Given the description of an element on the screen output the (x, y) to click on. 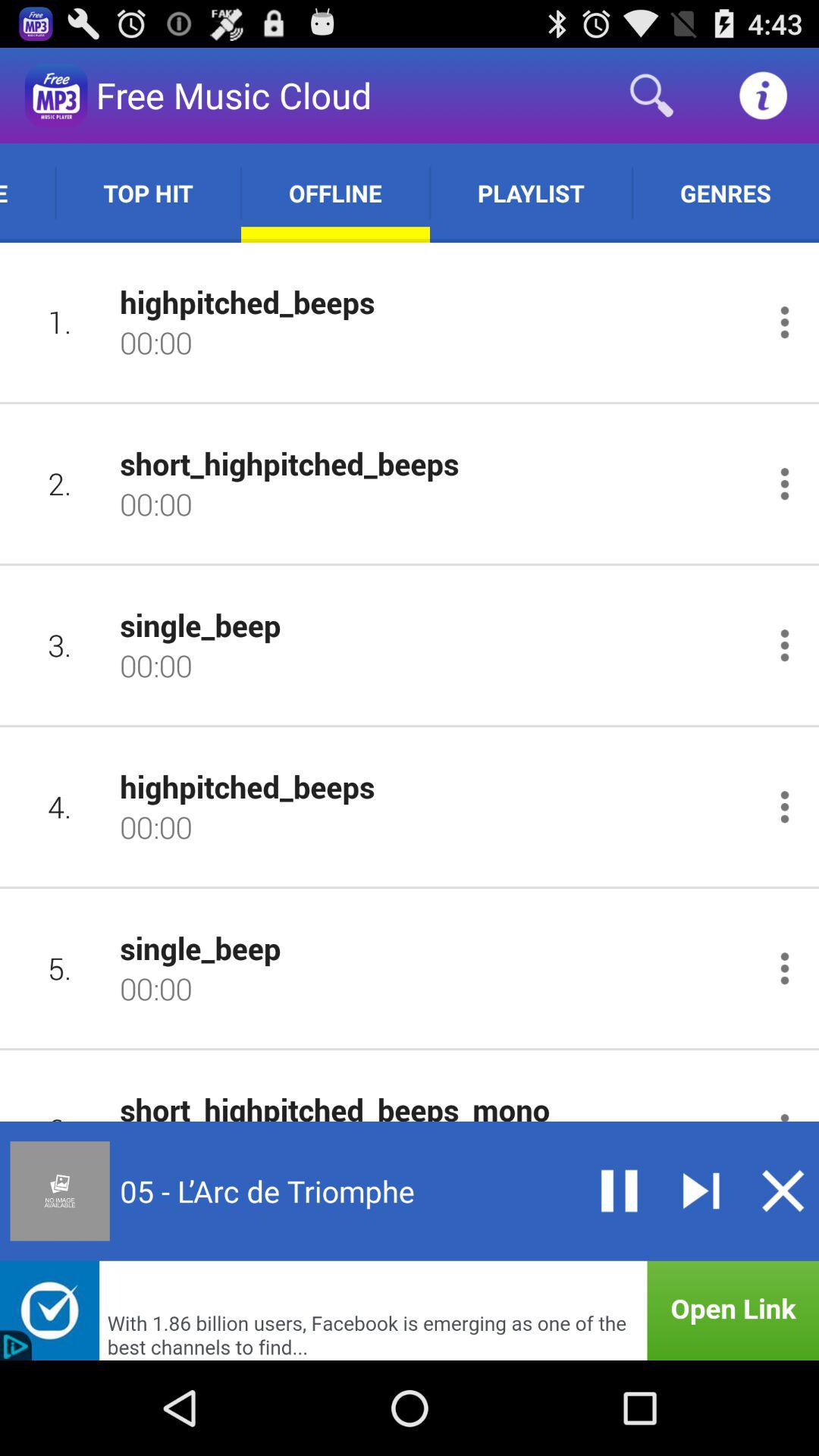
turn on item above the playlist icon (651, 95)
